Given the description of an element on the screen output the (x, y) to click on. 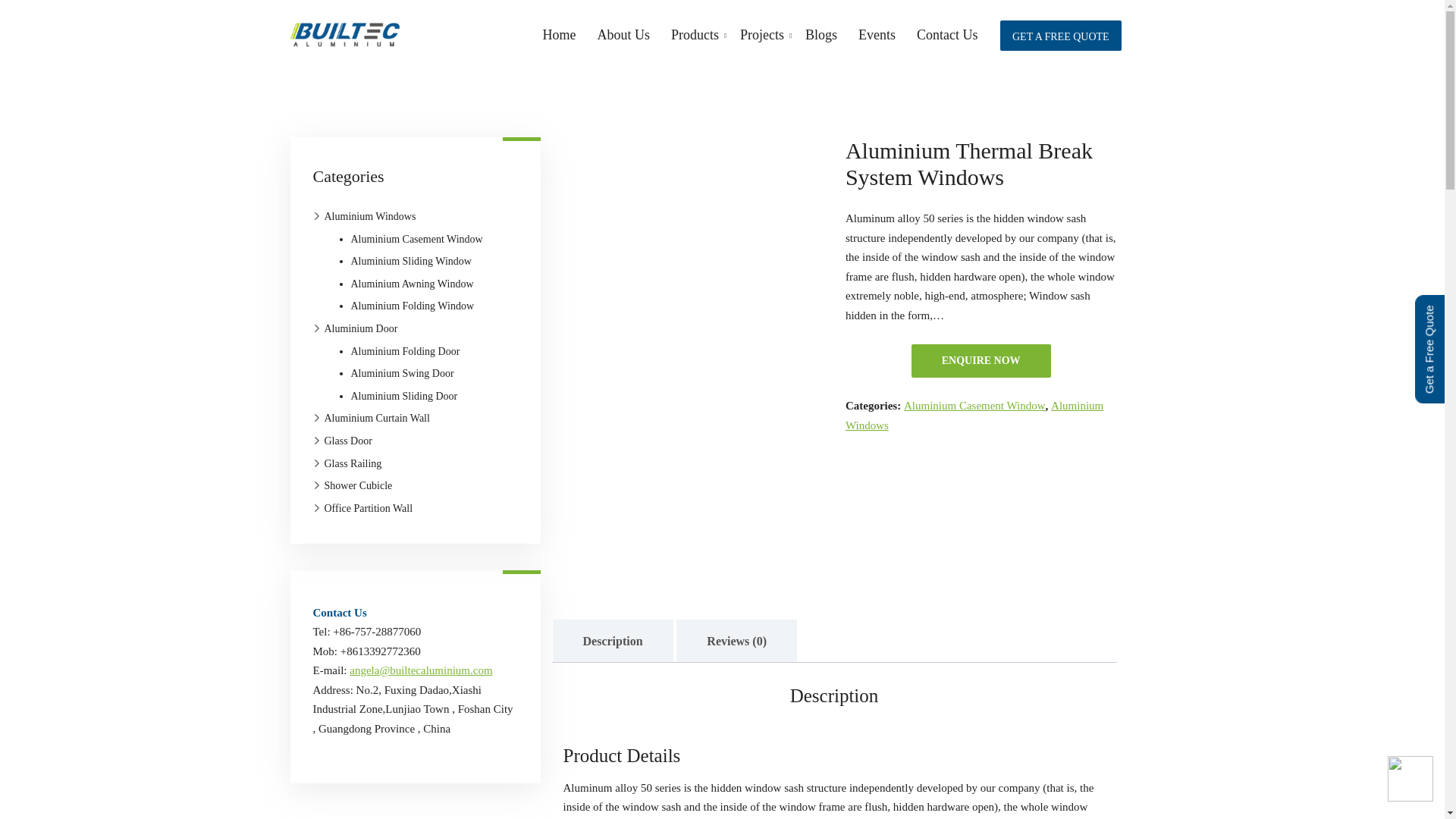
Aluminium Folding Window (411, 305)
Aluminium Sliding Window (406, 261)
Aluminium Folding Door (405, 351)
Aluminium Windows (355, 216)
Aluminium Door (354, 328)
Aluminium Sliding Door (405, 395)
Contact Us (946, 41)
Glass Railing (348, 463)
Office Partition Wall (363, 506)
Aluminium Awning Window (408, 283)
